Given the description of an element on the screen output the (x, y) to click on. 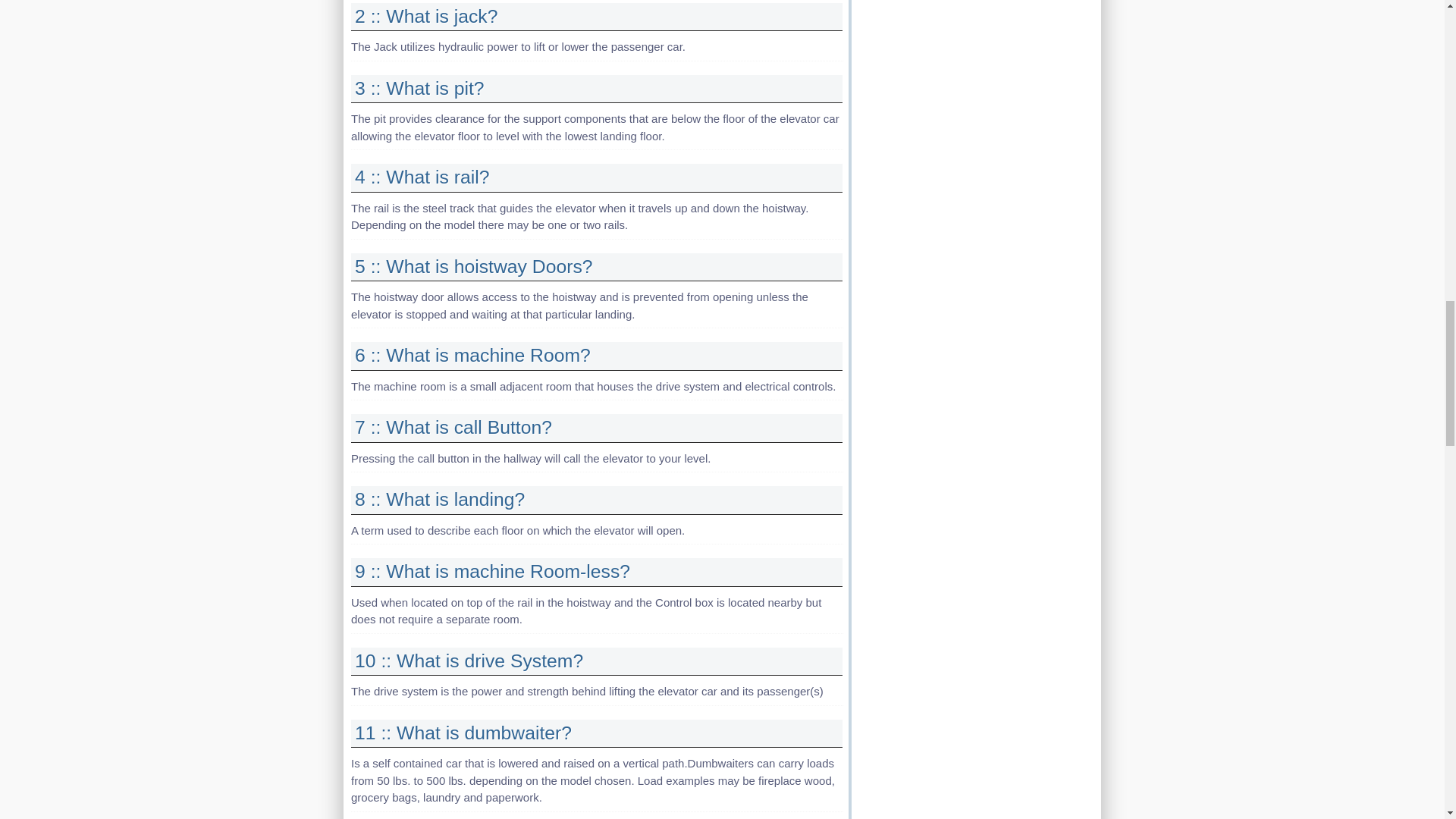
View all Answers (453, 426)
View all Answers (439, 498)
View all Answers (473, 354)
View all Answers (469, 660)
View all Answers (422, 177)
View all Answers (463, 732)
View all Answers (473, 266)
View all Answers (419, 87)
View all Answers (492, 571)
View all Answers (426, 15)
